Given the description of an element on the screen output the (x, y) to click on. 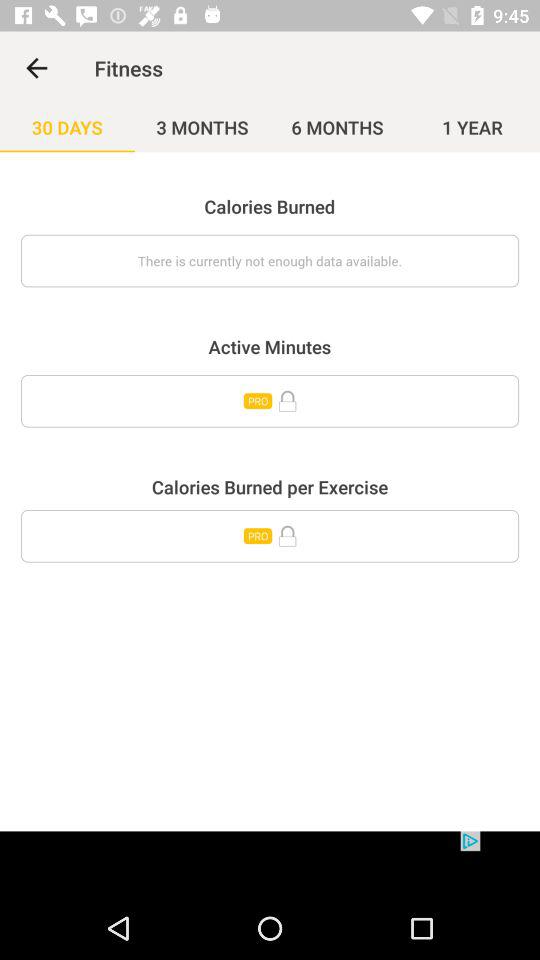
unlock pro (269, 401)
